Given the description of an element on the screen output the (x, y) to click on. 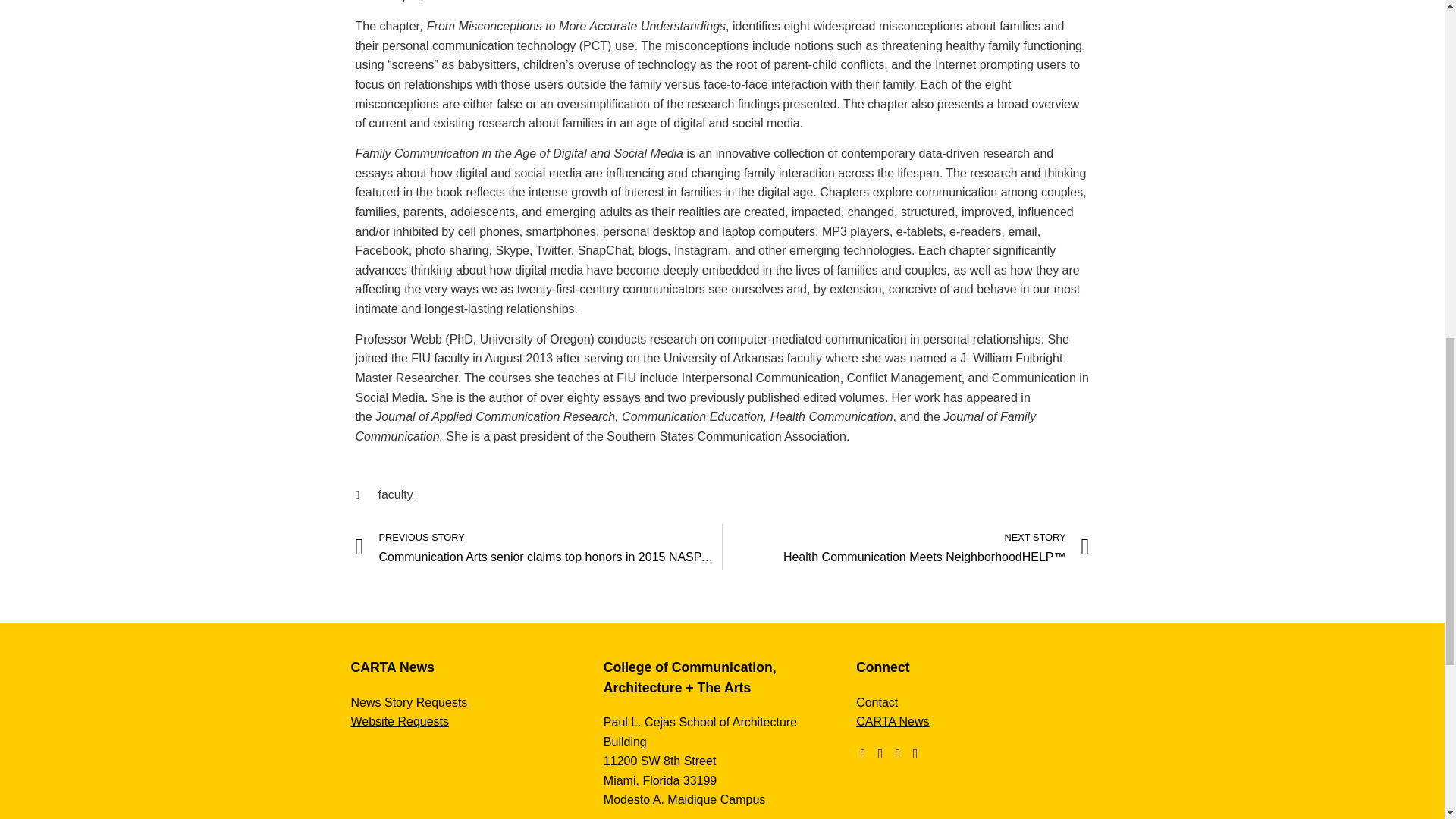
faculty (394, 494)
